Given the description of an element on the screen output the (x, y) to click on. 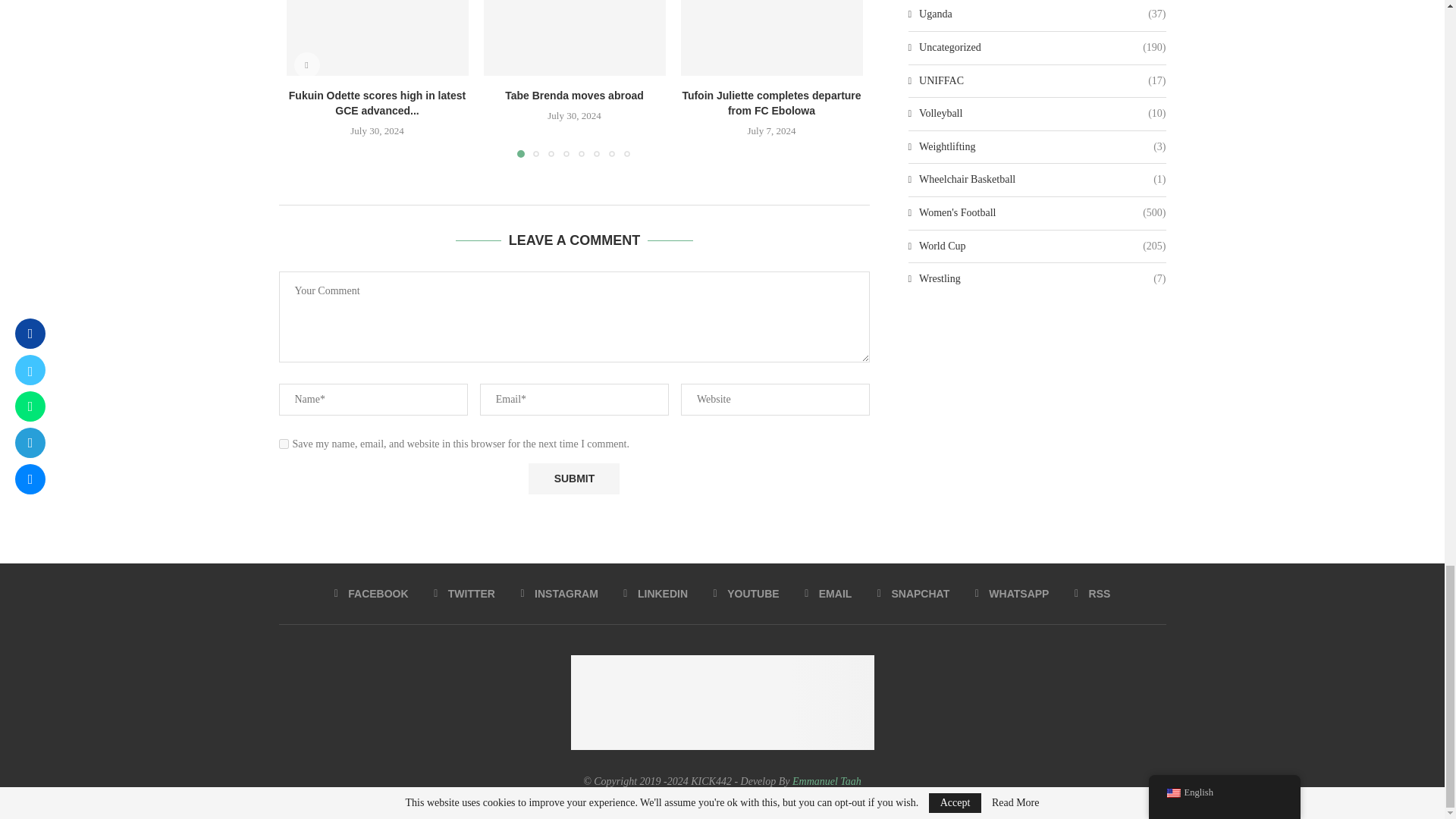
Tufoin Juliette completes departure from FC Ebolowa (772, 38)
Submit (574, 478)
Tabe Brenda moves abroad (574, 38)
yes (283, 443)
Fukuin Odette scores high in latest GCE advanced level (377, 38)
